Given the description of an element on the screen output the (x, y) to click on. 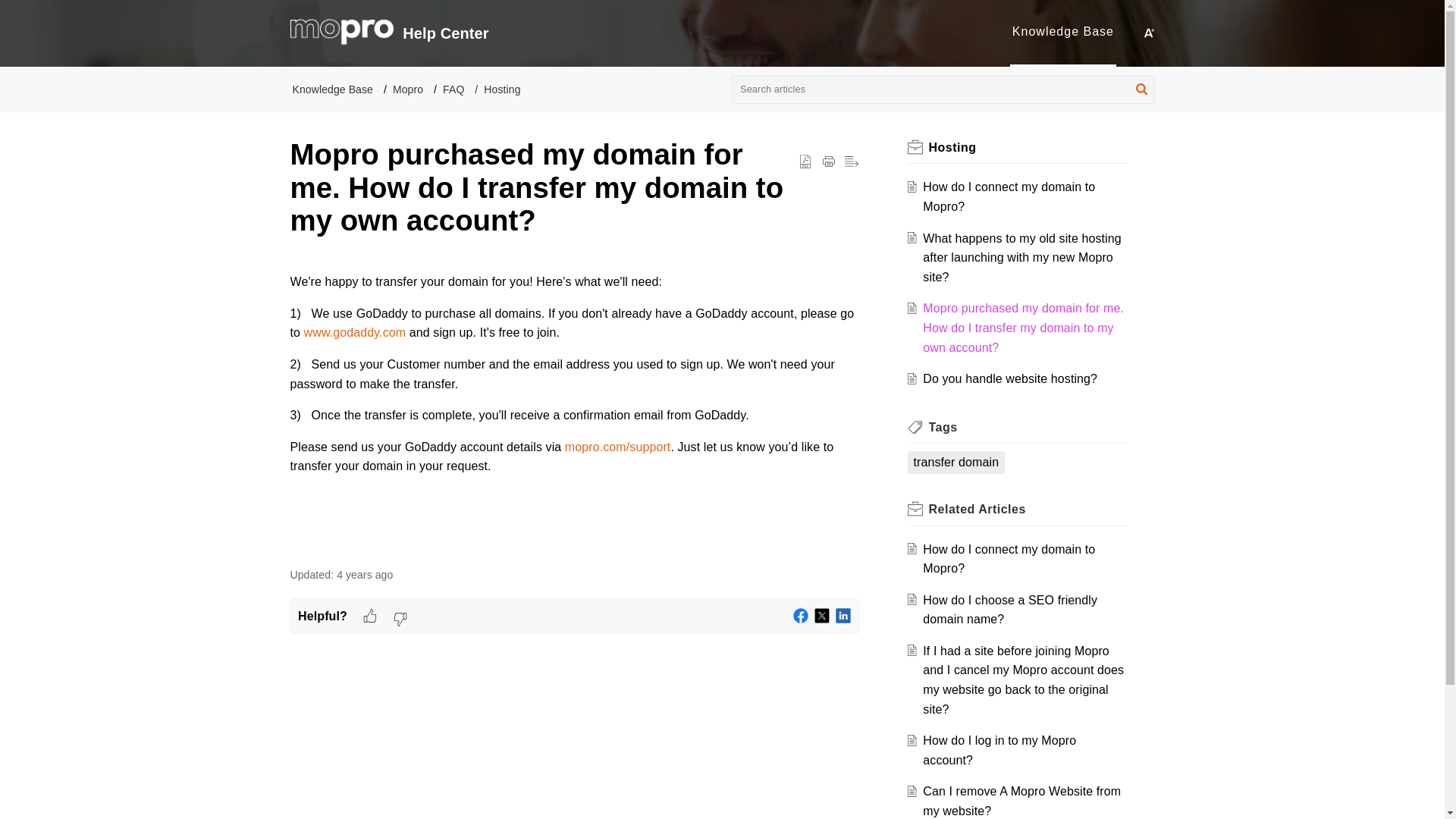
Hosting (501, 89)
How do I choose a SEO friendly domain name? (1010, 609)
Knowledge Base (1062, 31)
Do you handle website hosting? (1010, 378)
How do I log in to my Mopro account? (999, 749)
How do I connect my domain to Mopro? (1008, 558)
Mopro (408, 89)
www.godaddy.com (355, 332)
How do I connect my domain to Mopro? (1008, 558)
FAQ (453, 89)
Hosting (951, 146)
Knowledge Base (1062, 31)
How do I connect my domain to Mopro? (1008, 196)
